Given the description of an element on the screen output the (x, y) to click on. 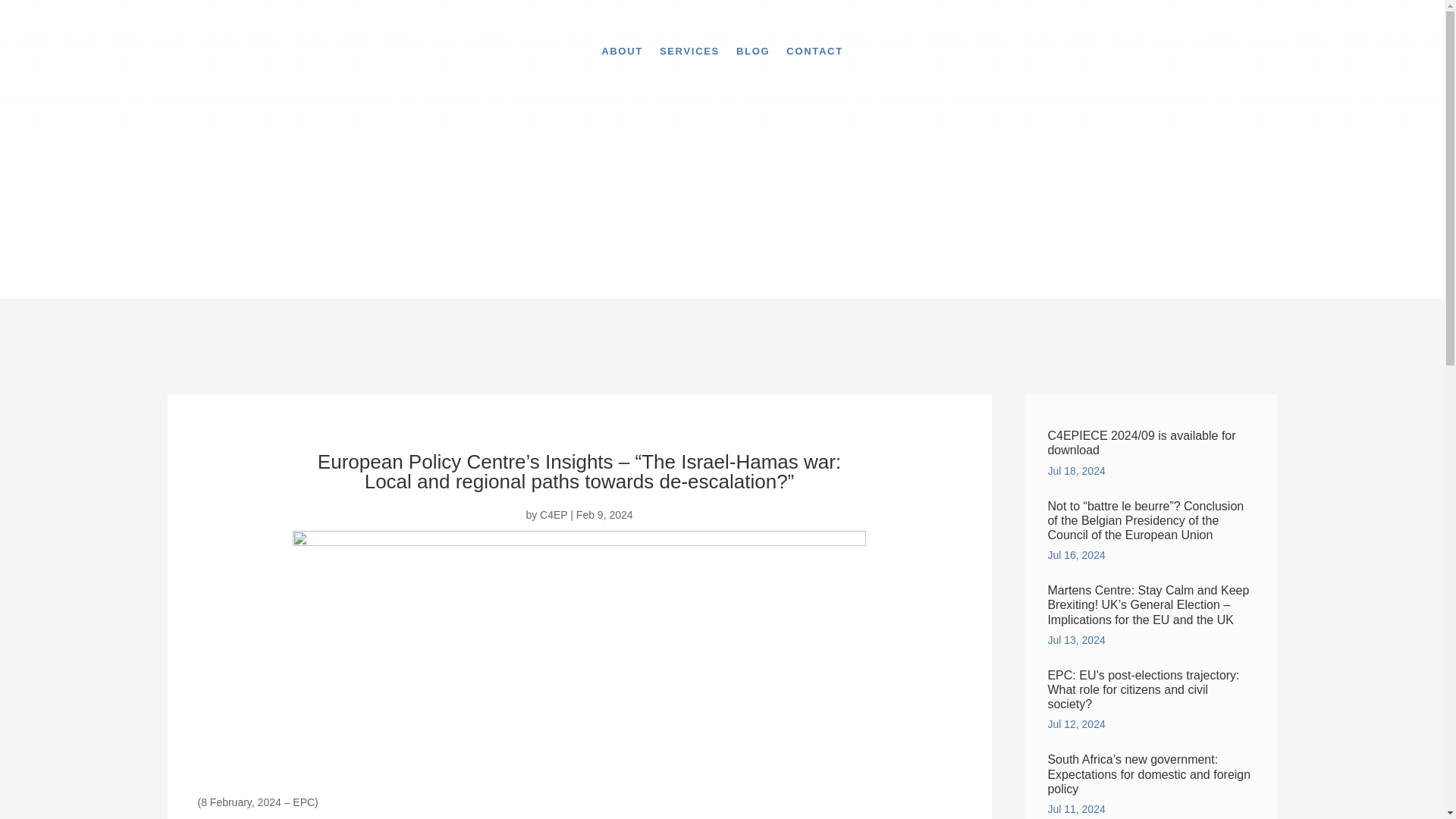
C4EP (553, 514)
SERVICES (689, 51)
Posts by C4EP (553, 514)
CONTACT (814, 51)
